Given the description of an element on the screen output the (x, y) to click on. 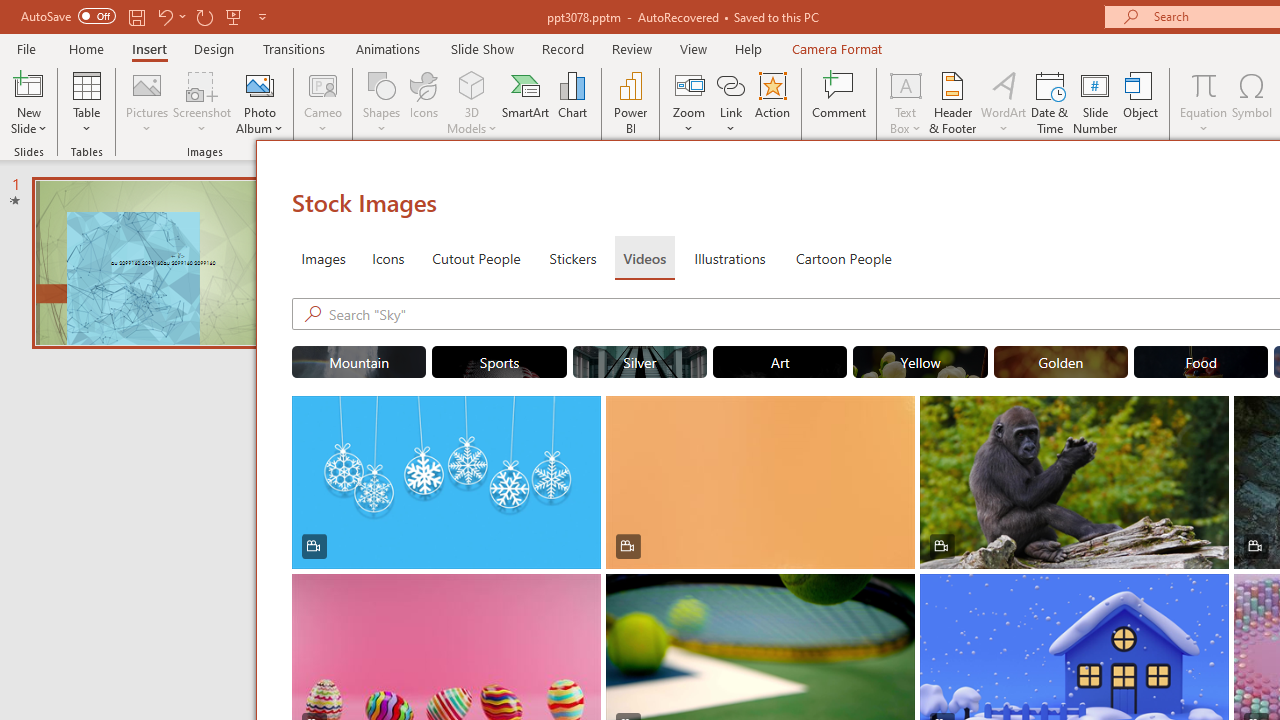
SmartArt... (525, 102)
Equation (1203, 102)
"Silver" Stock Videos. (639, 362)
"Yellow" Stock Videos. (920, 362)
Cutout People (477, 258)
"Food" Stock Videos. (1201, 362)
Stickers (573, 258)
Draw Horizontal Text Box (905, 84)
